Given the description of an element on the screen output the (x, y) to click on. 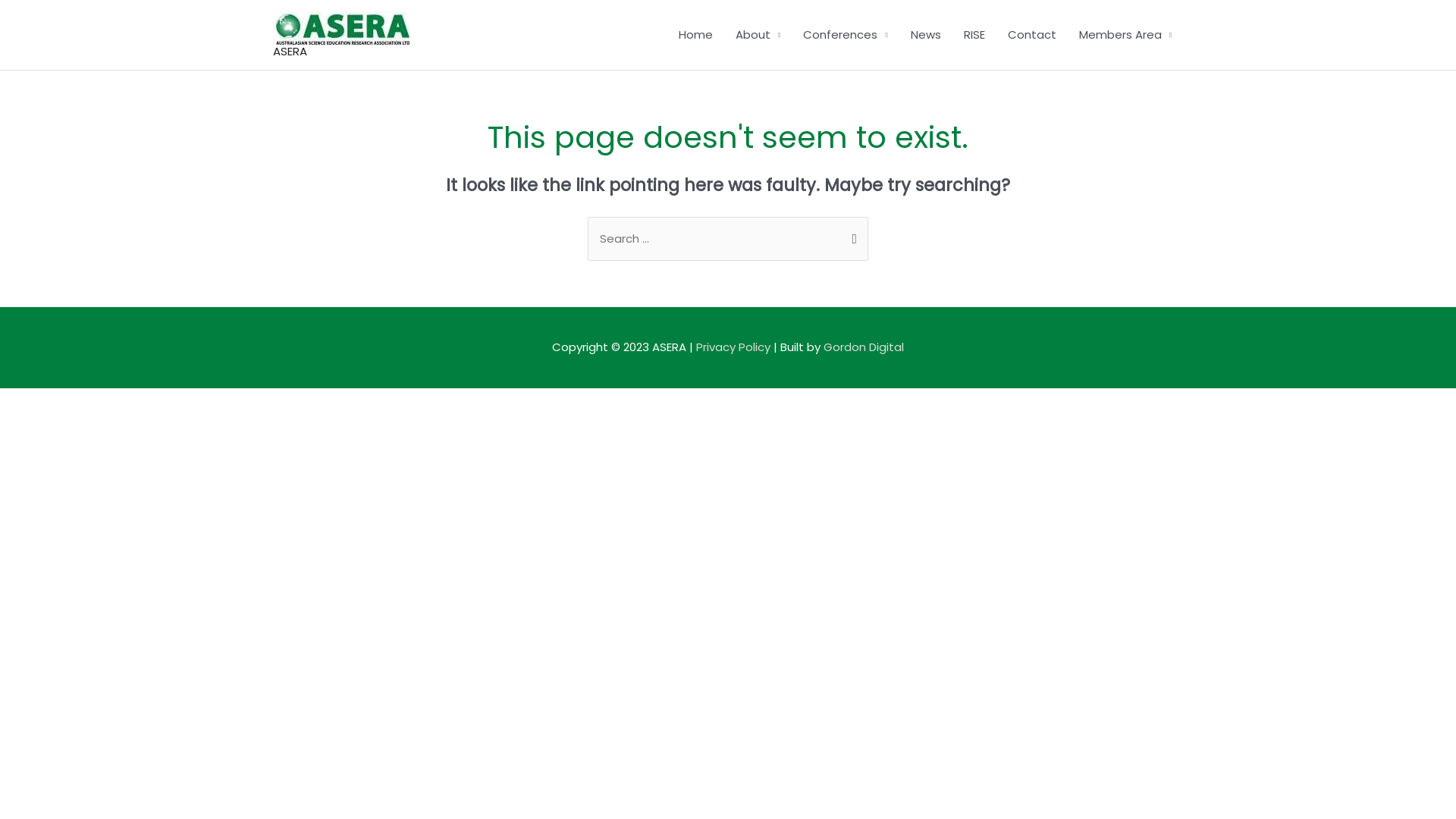
ASERA Element type: text (290, 51)
Conferences Element type: text (844, 34)
Home Element type: text (695, 34)
Privacy Policy Element type: text (734, 346)
Members Area Element type: text (1125, 34)
News Element type: text (925, 34)
Contact Element type: text (1031, 34)
Gordon Digital Element type: text (863, 346)
RISE Element type: text (974, 34)
About Element type: text (757, 34)
Search Element type: text (851, 236)
